Given the description of an element on the screen output the (x, y) to click on. 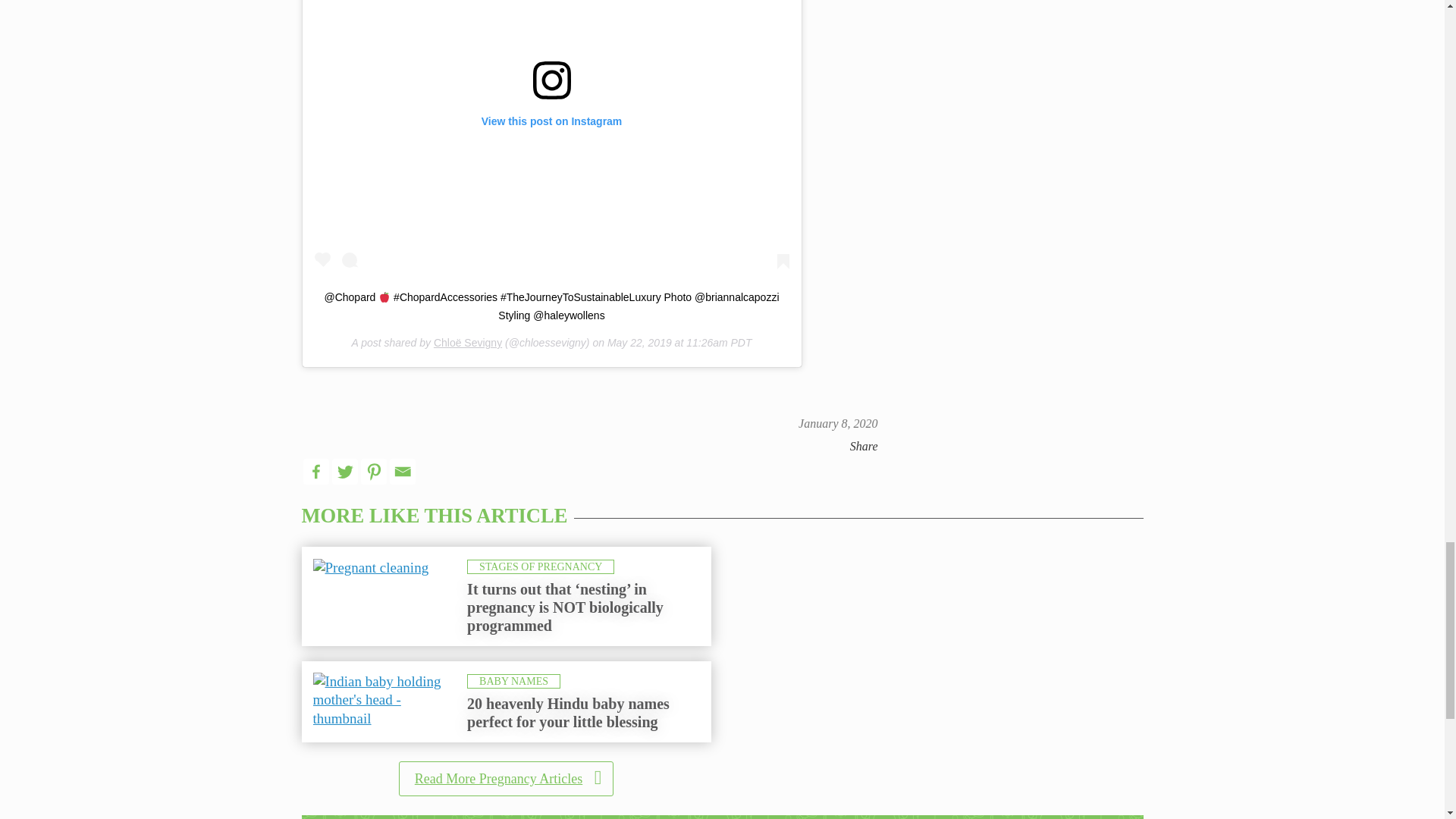
Facebook (315, 471)
9:51 am (837, 422)
Twitter (344, 471)
